Given the description of an element on the screen output the (x, y) to click on. 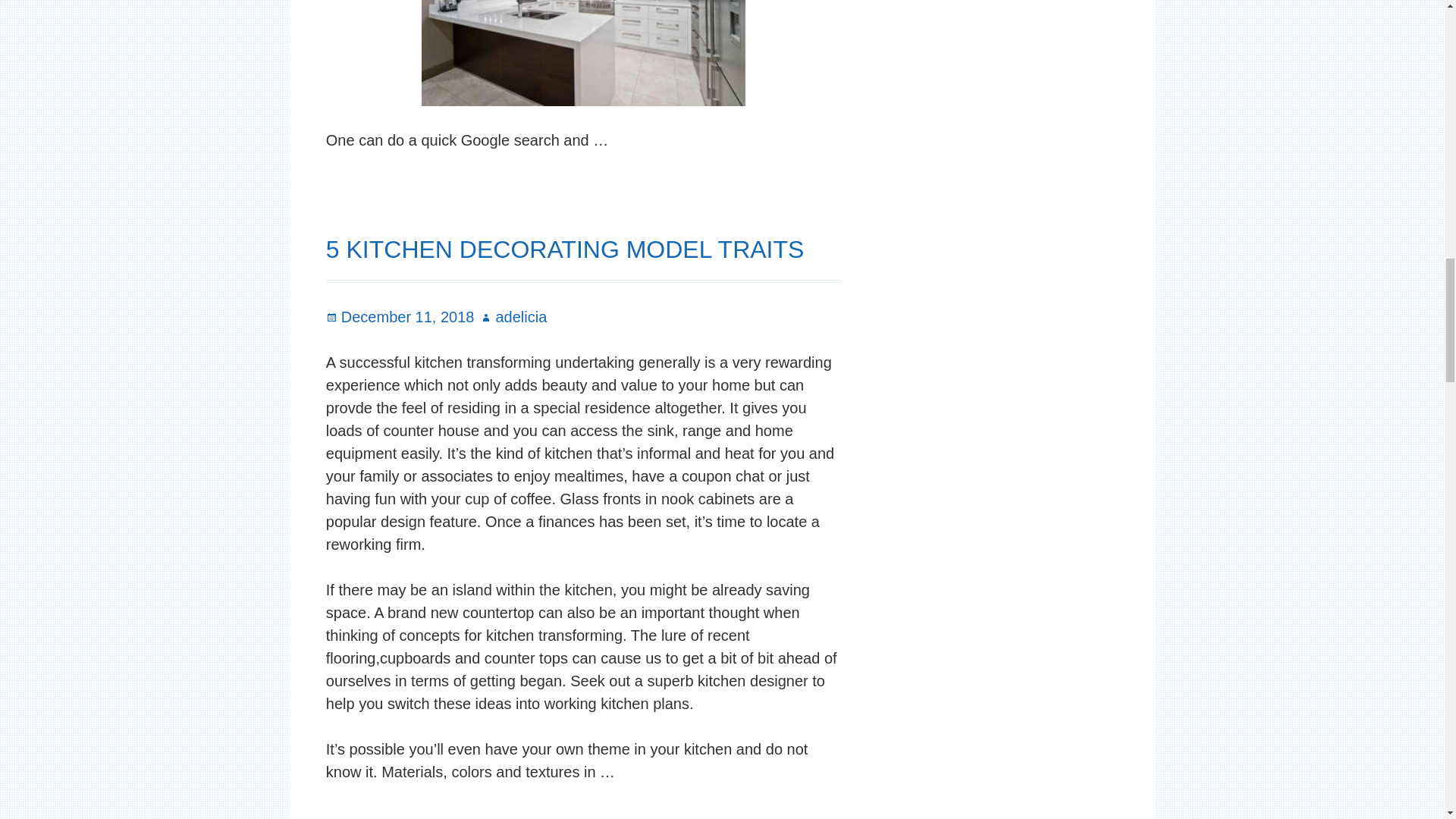
December 11, 2018 (400, 316)
5 KITCHEN DECORATING MODEL TRAITS (565, 248)
